Given the description of an element on the screen output the (x, y) to click on. 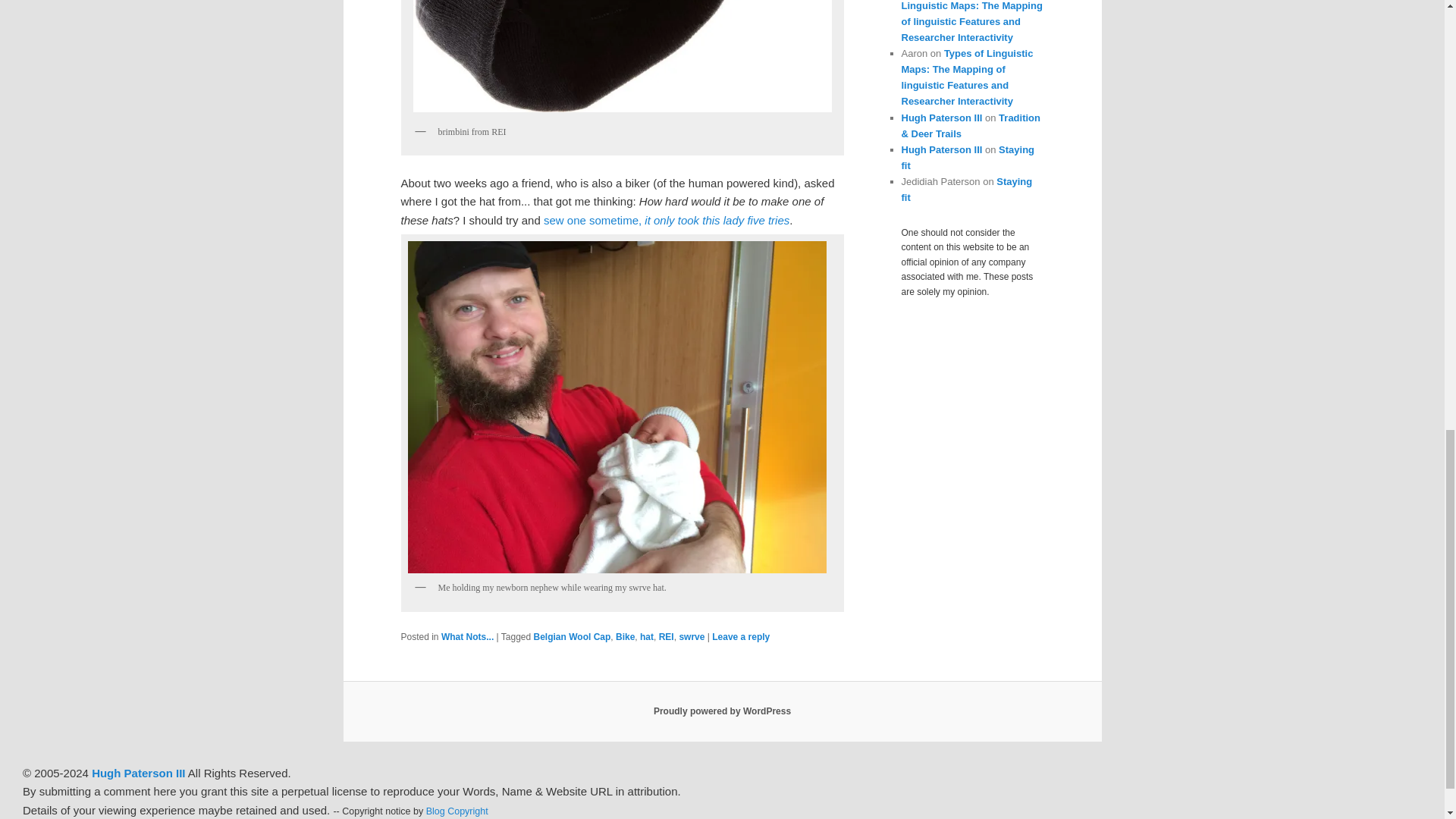
REI (666, 636)
Semantic Personal Publishing Platform (721, 710)
What Nots... (467, 636)
sew one sometime, it only took this lady five tries (666, 219)
swrve (691, 636)
Bike (624, 636)
hat (646, 636)
Belgian Wool Cap (572, 636)
Leave a reply (740, 636)
